Given the description of an element on the screen output the (x, y) to click on. 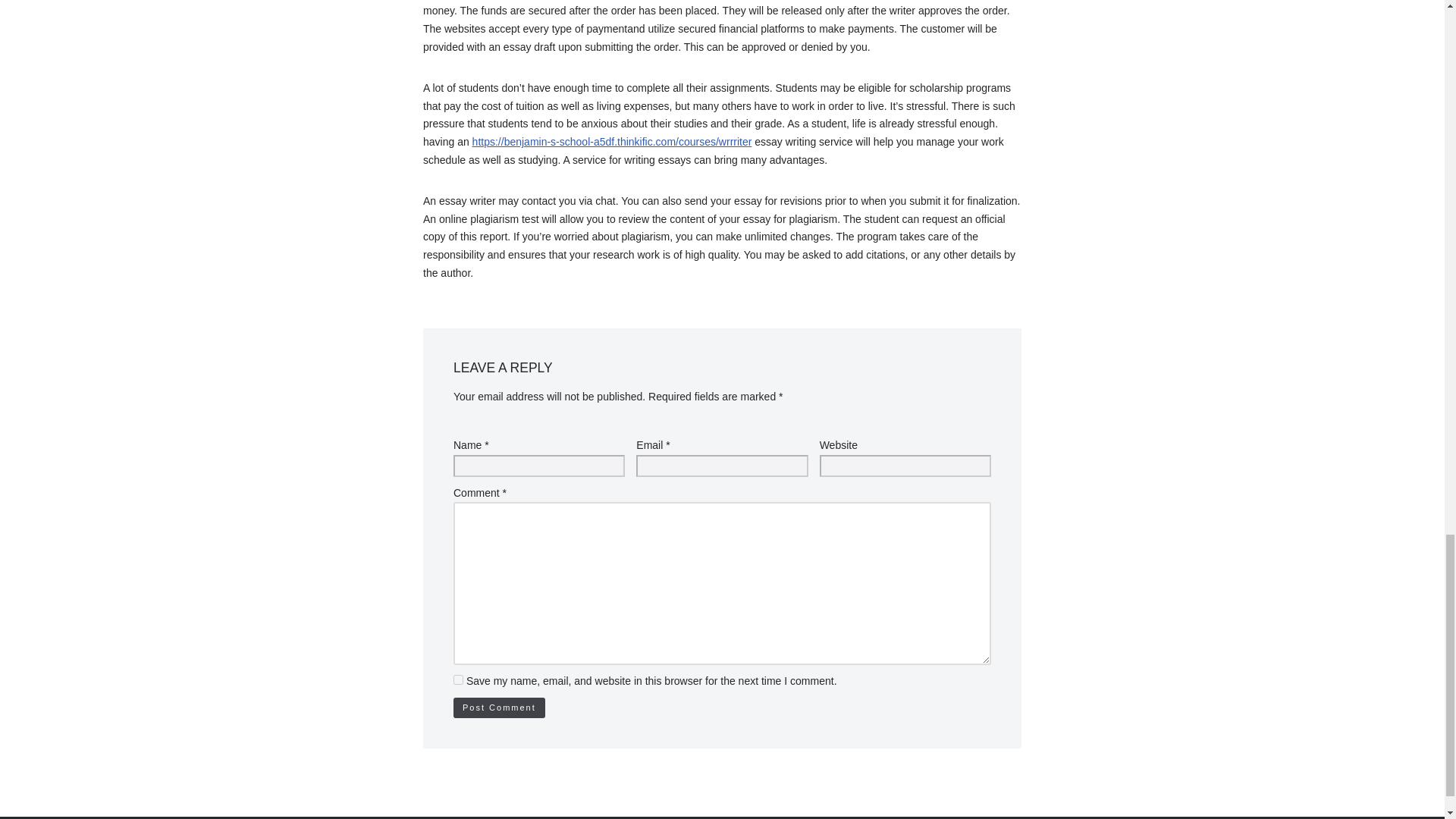
Post Comment (498, 707)
yes (457, 679)
Post Comment (498, 707)
